Given the description of an element on the screen output the (x, y) to click on. 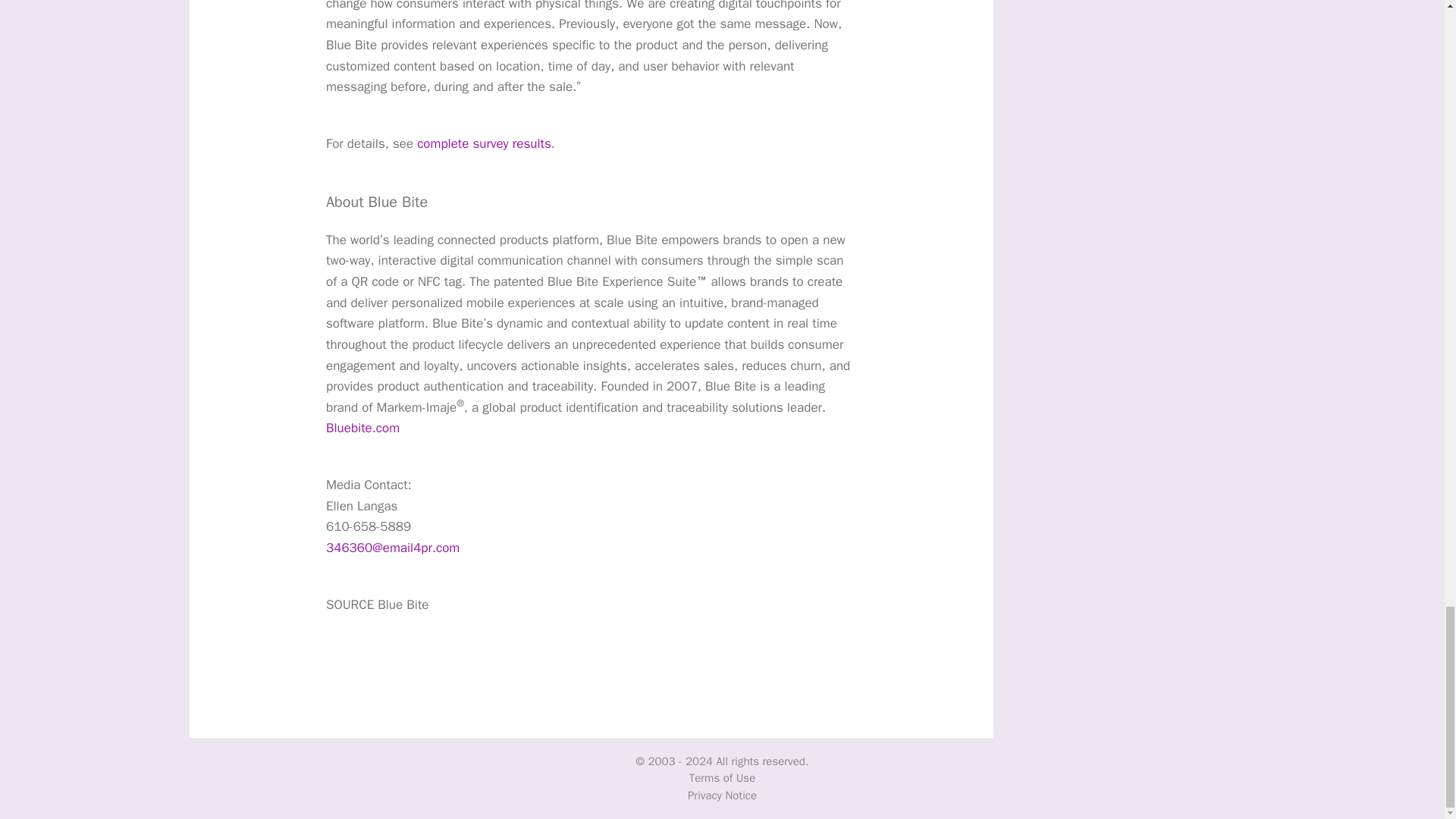
Bluebite.com (362, 427)
Privacy Notice (722, 795)
Terms of Use (721, 777)
complete survey results (483, 143)
